Given the description of an element on the screen output the (x, y) to click on. 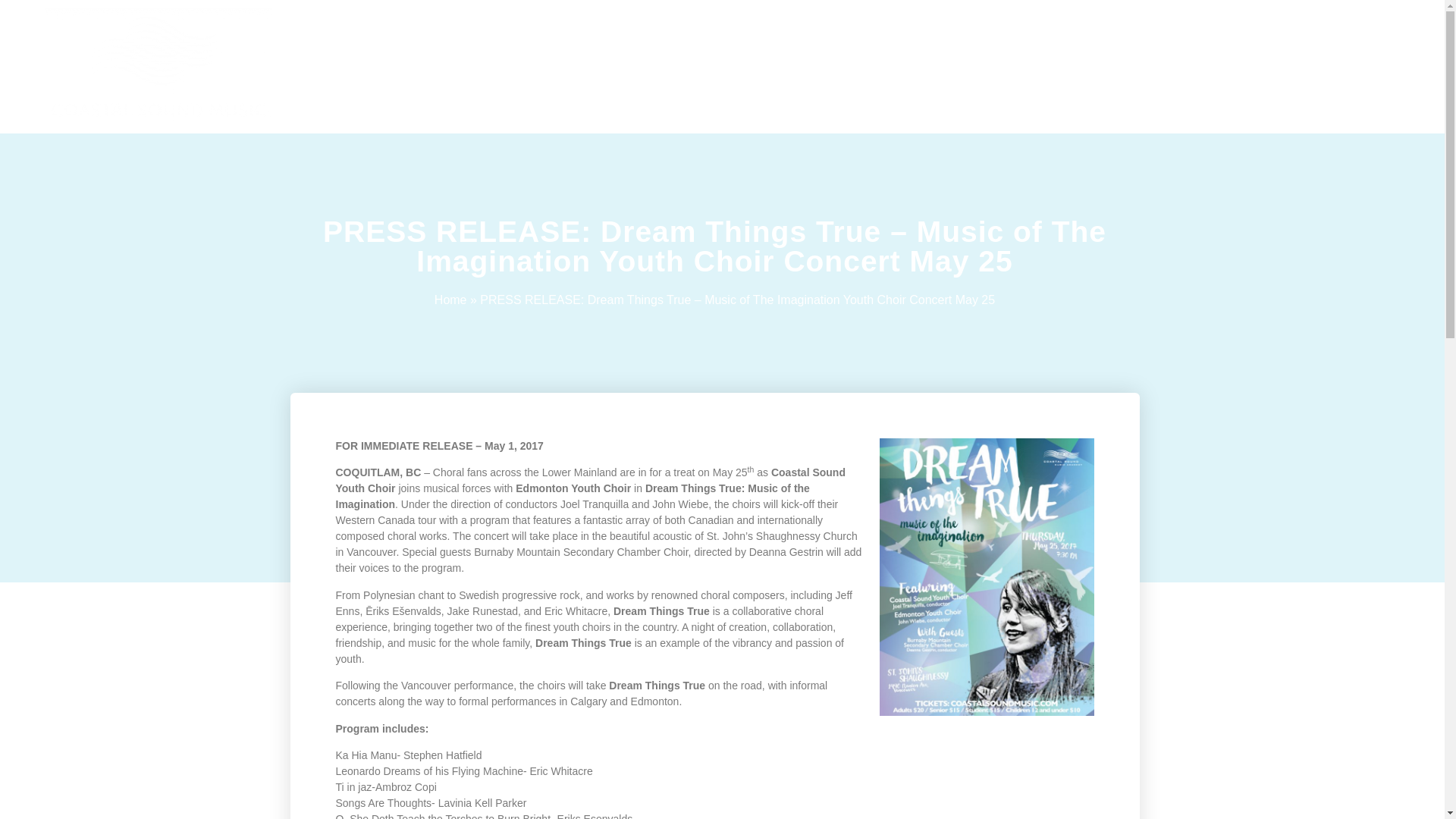
Donate Now (1011, 66)
About (375, 66)
Choirs (456, 66)
Join a Choir (552, 66)
Contact (916, 66)
Support Us (817, 66)
